Given the description of an element on the screen output the (x, y) to click on. 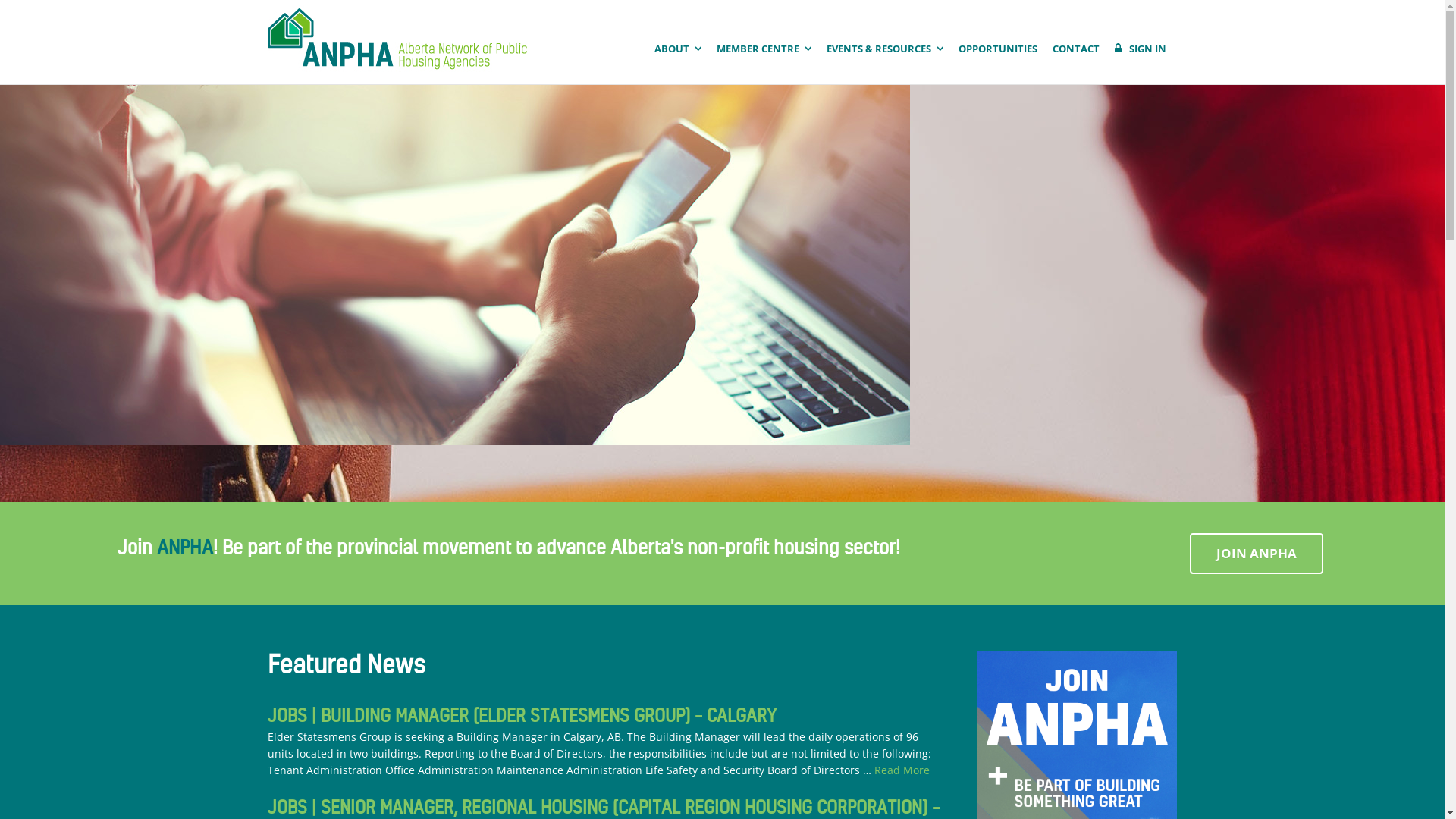
JOIN ANPHA Element type: text (1256, 553)
Read More Element type: text (900, 769)
Anpha_Slide Element type: hover (455, 264)
ABOUT Element type: text (677, 48)
EVENTS & RESOURCES Element type: text (884, 48)
CONTACT Element type: text (1075, 48)
OPPORTUNITIES Element type: text (997, 48)
MEMBER CENTRE Element type: text (763, 48)
SIGN IN Element type: text (1140, 48)
